Given the description of an element on the screen output the (x, y) to click on. 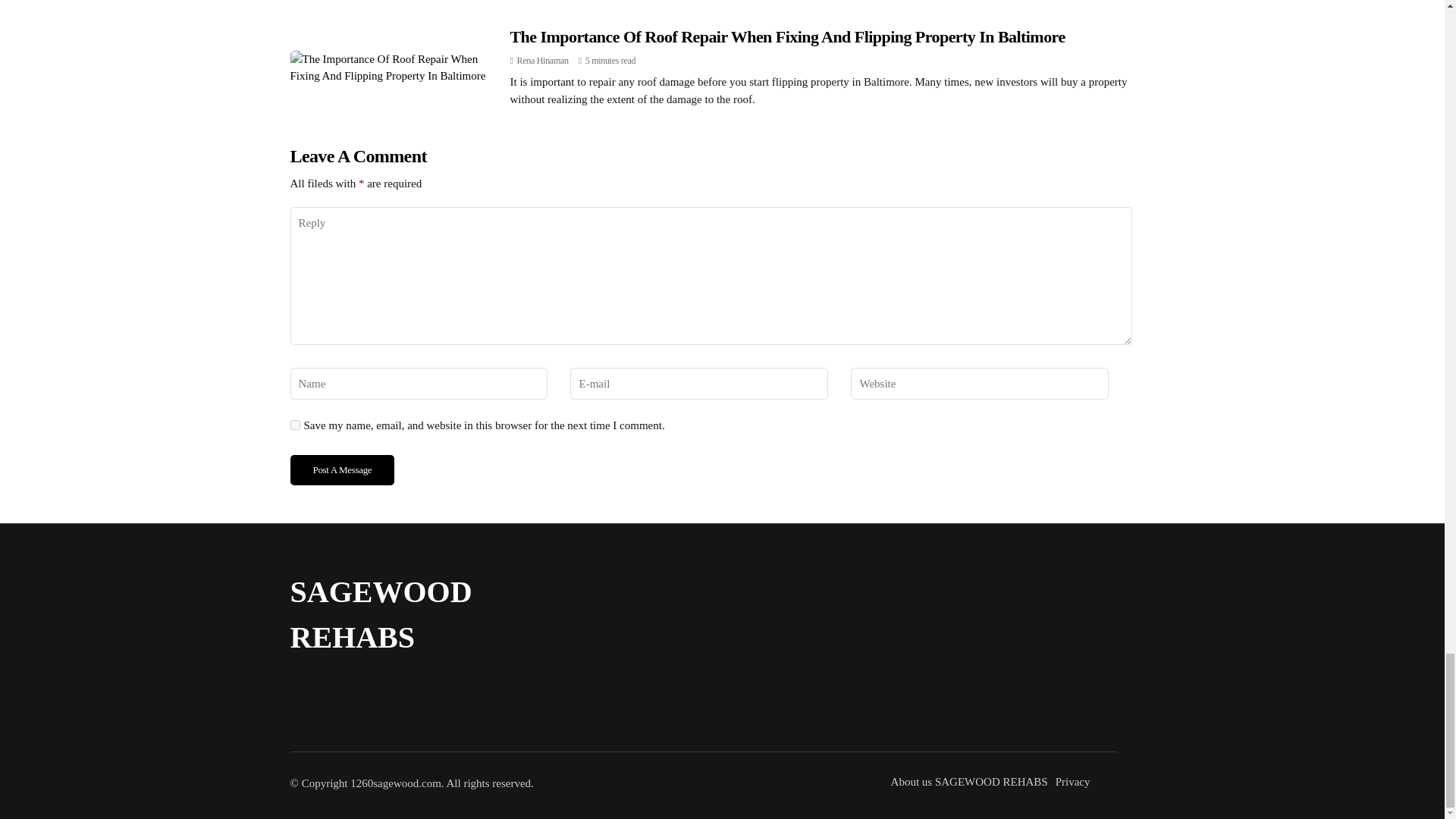
Post a Message (341, 470)
yes (294, 424)
Rena Hinaman (542, 60)
Post a Message (341, 470)
Posts by Rena Hinaman (542, 60)
